Given the description of an element on the screen output the (x, y) to click on. 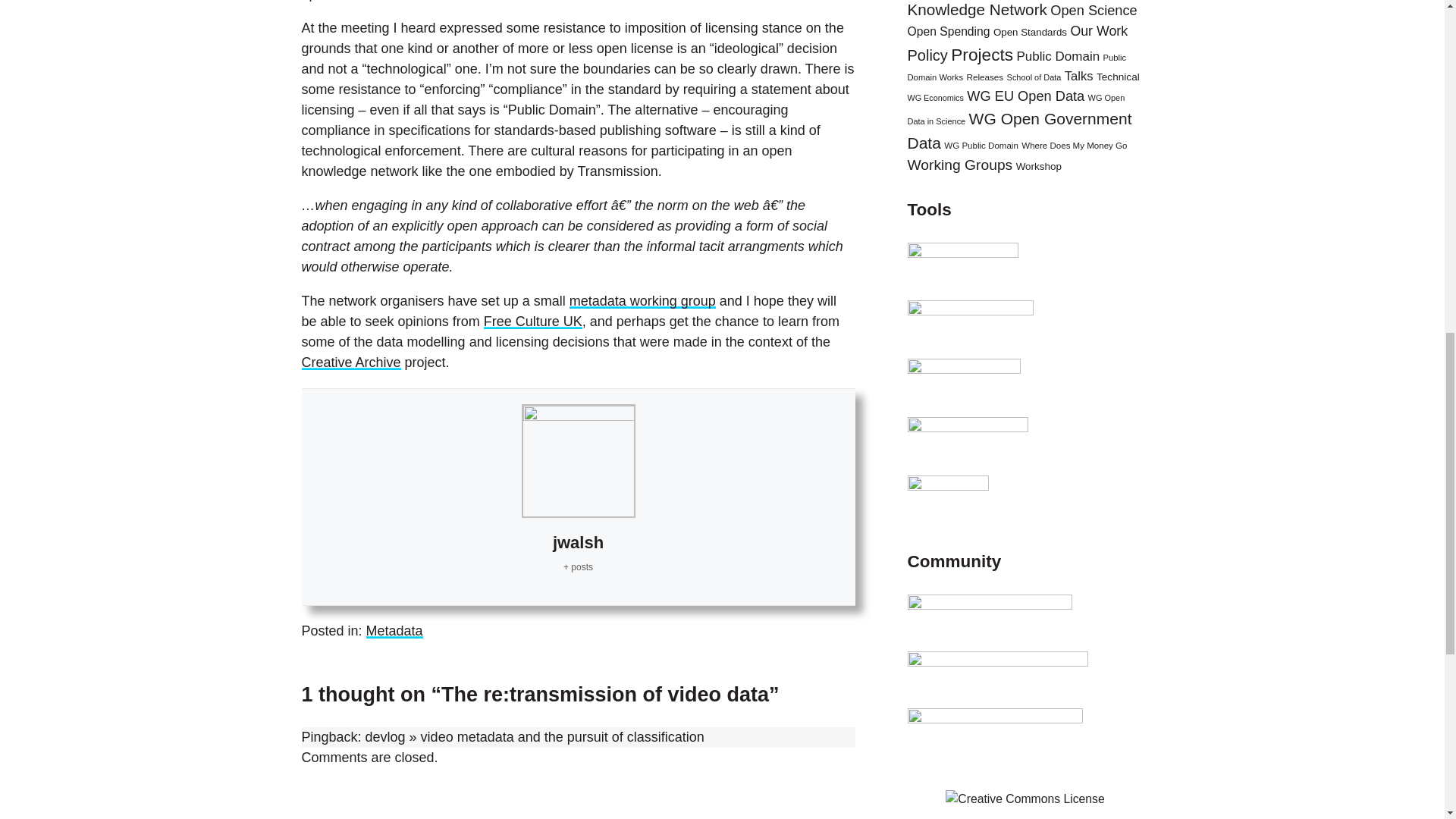
Metadata (394, 630)
metadata working group (642, 300)
Creative Archive (351, 362)
jwalsh (578, 542)
Free Culture UK (532, 321)
